Given the description of an element on the screen output the (x, y) to click on. 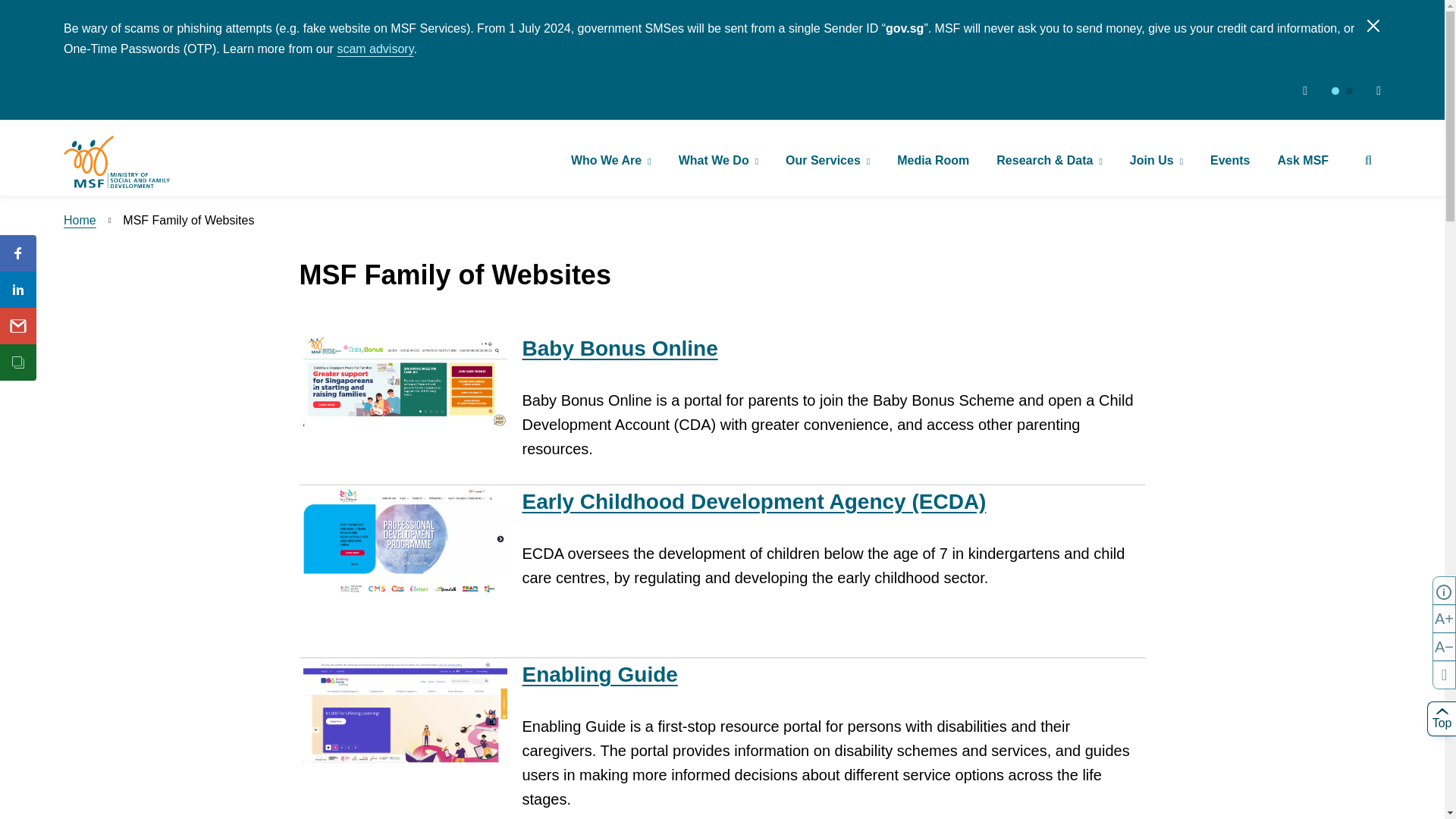
ECDA website (753, 501)
Baby Bonus Website (619, 348)
ECDA website (404, 543)
Enabling guide website (599, 674)
scam advisory (374, 48)
Baby Bonus Website (404, 380)
MSF logo (117, 161)
